Given the description of an element on the screen output the (x, y) to click on. 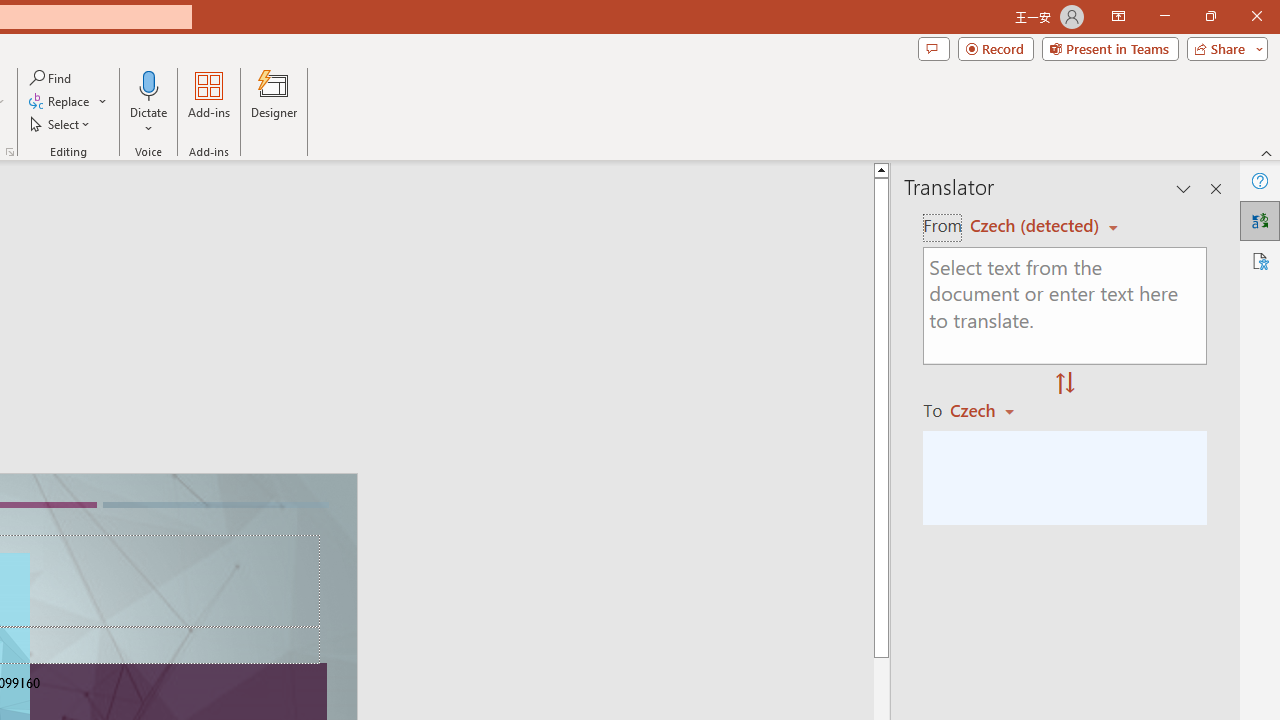
Czech (991, 409)
Select (61, 124)
